Given the description of an element on the screen output the (x, y) to click on. 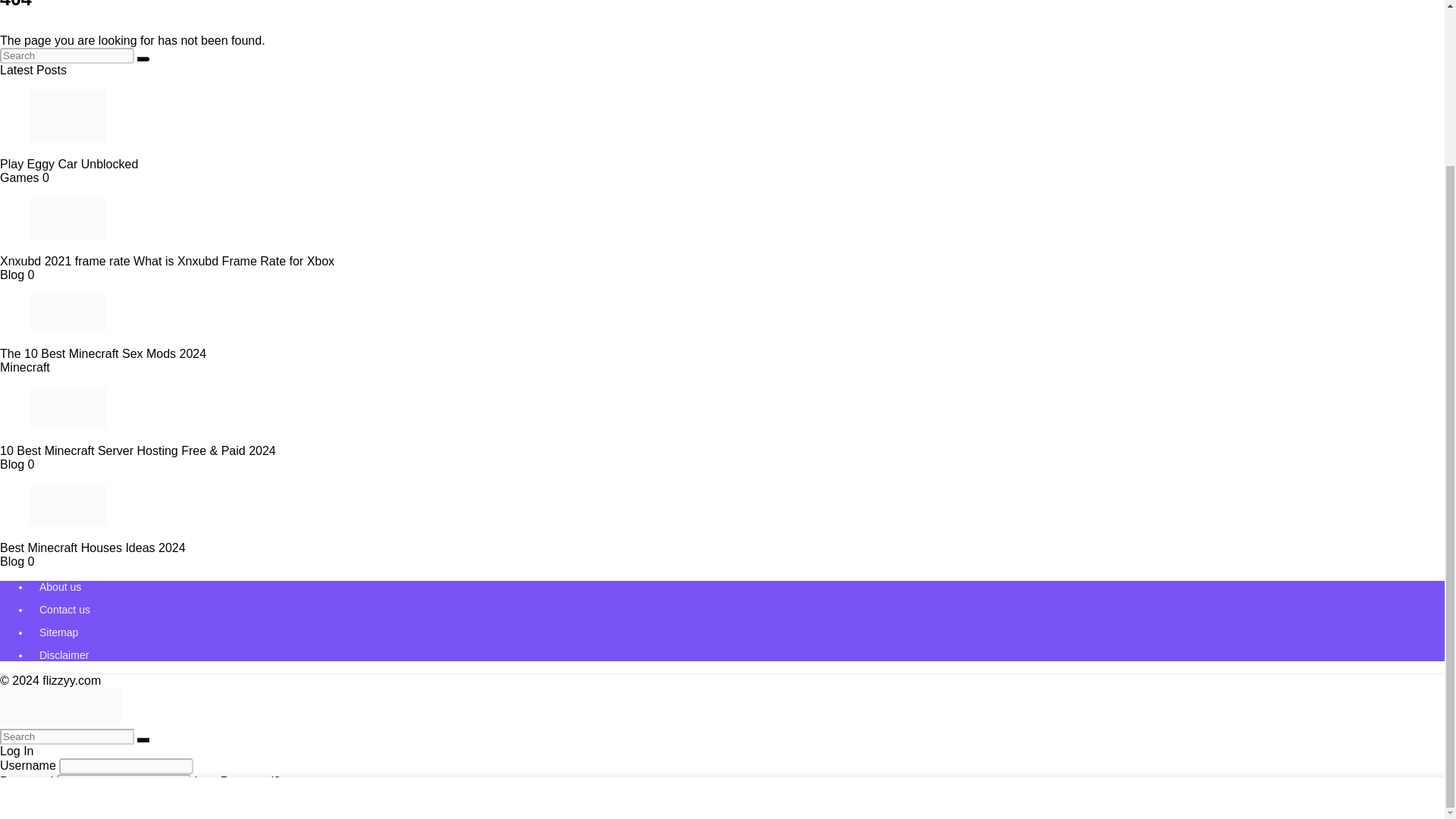
Xnxubd 2021 frame rate What is Xnxubd Frame Rate for Xbox (167, 260)
The 10 Best Minecraft Sex Mods 2024 (103, 353)
Best Minecraft Houses Ideas 2024 (93, 547)
About us (60, 586)
Lost Password? (237, 780)
Blog (12, 463)
Blog (12, 274)
Disclaimer (63, 654)
Blog (12, 561)
Minecraft (24, 367)
